Given the description of an element on the screen output the (x, y) to click on. 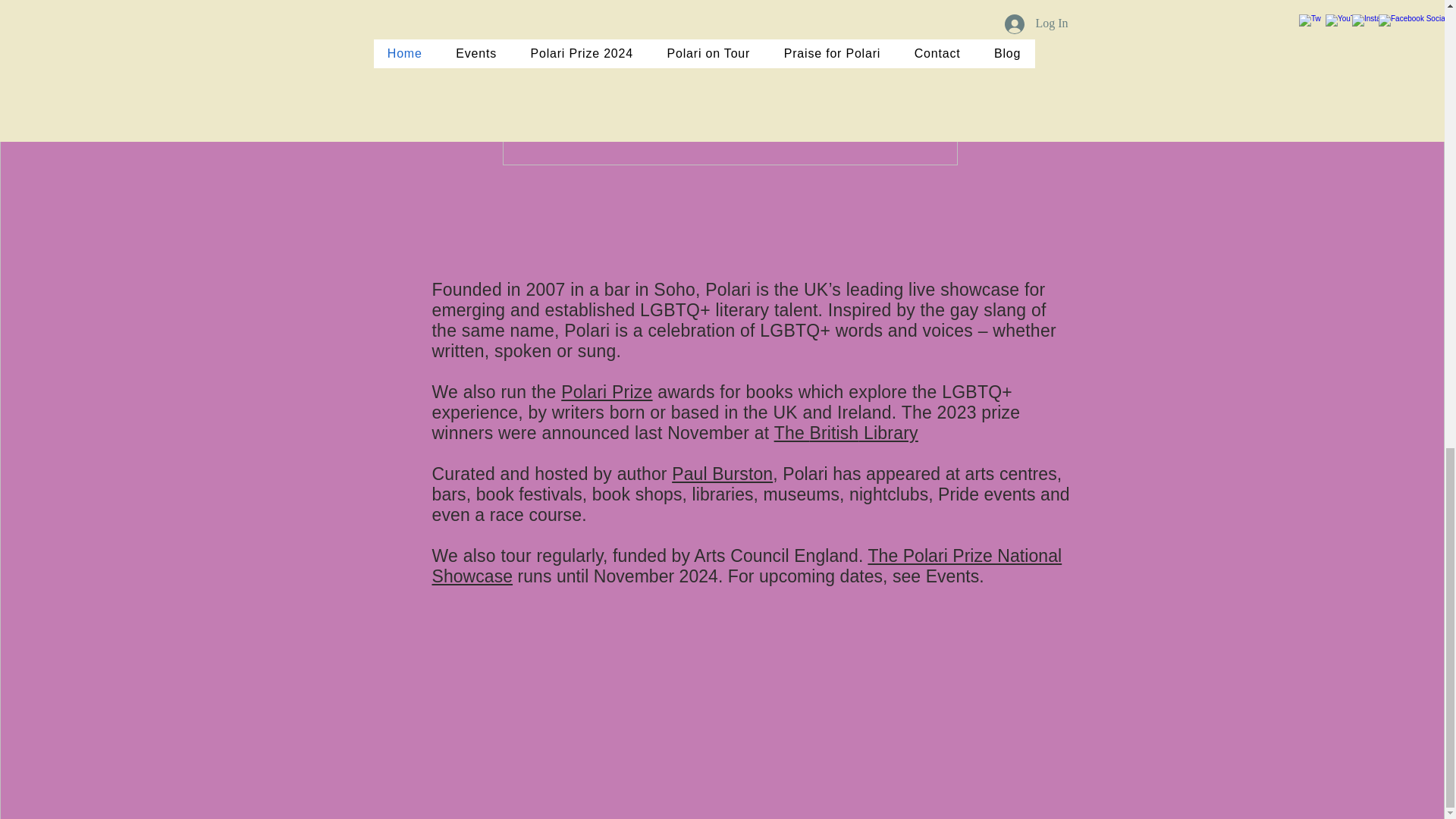
Paul Burston (722, 474)
ArtsCouncilLogo.jpg (729, 105)
The Polari Prize National Showcase (747, 566)
The British Library (846, 433)
Polari Prize (606, 392)
